Given the description of an element on the screen output the (x, y) to click on. 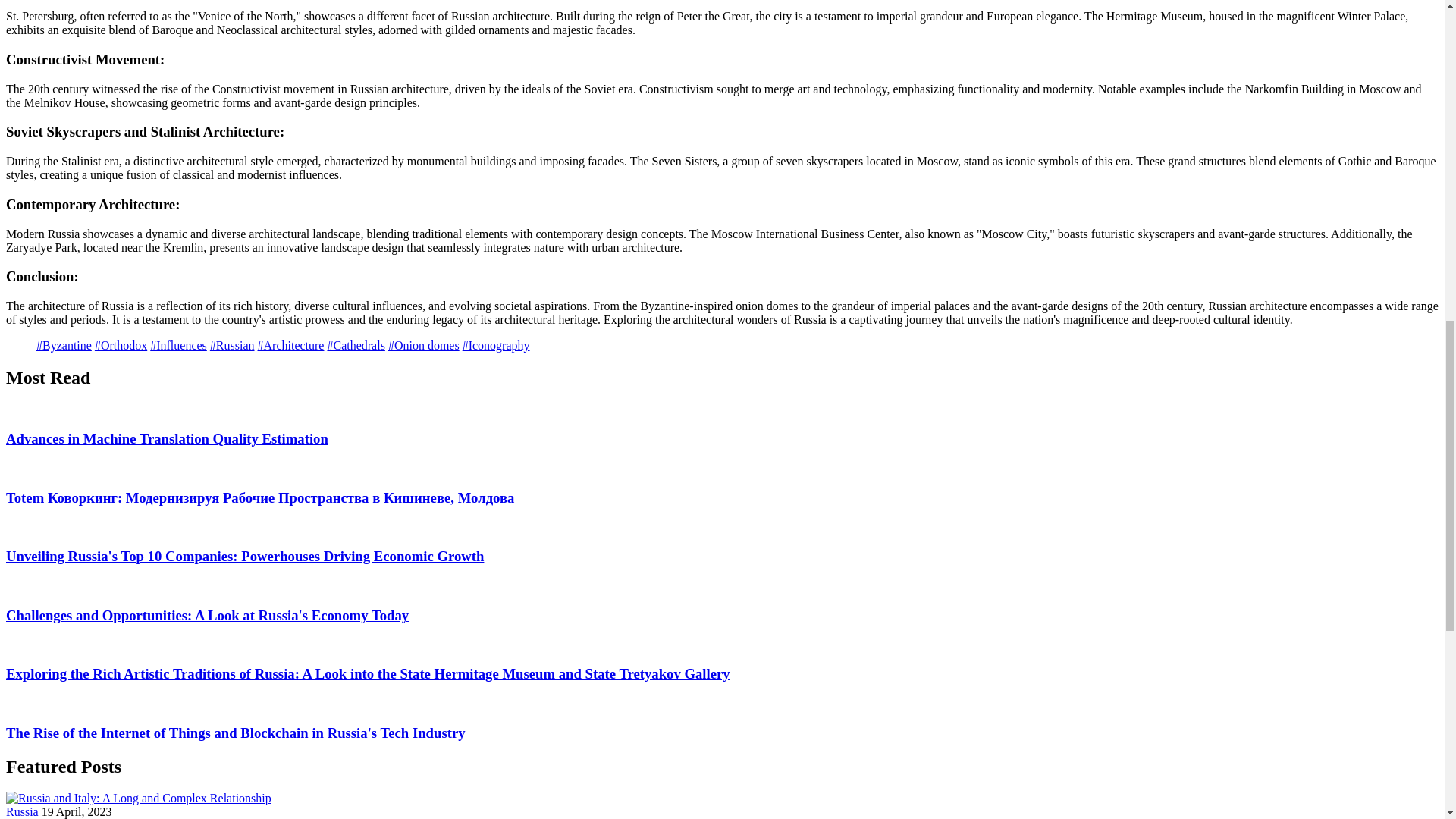
Advances in Machine Translation Quality Estimation (167, 438)
